Given the description of an element on the screen output the (x, y) to click on. 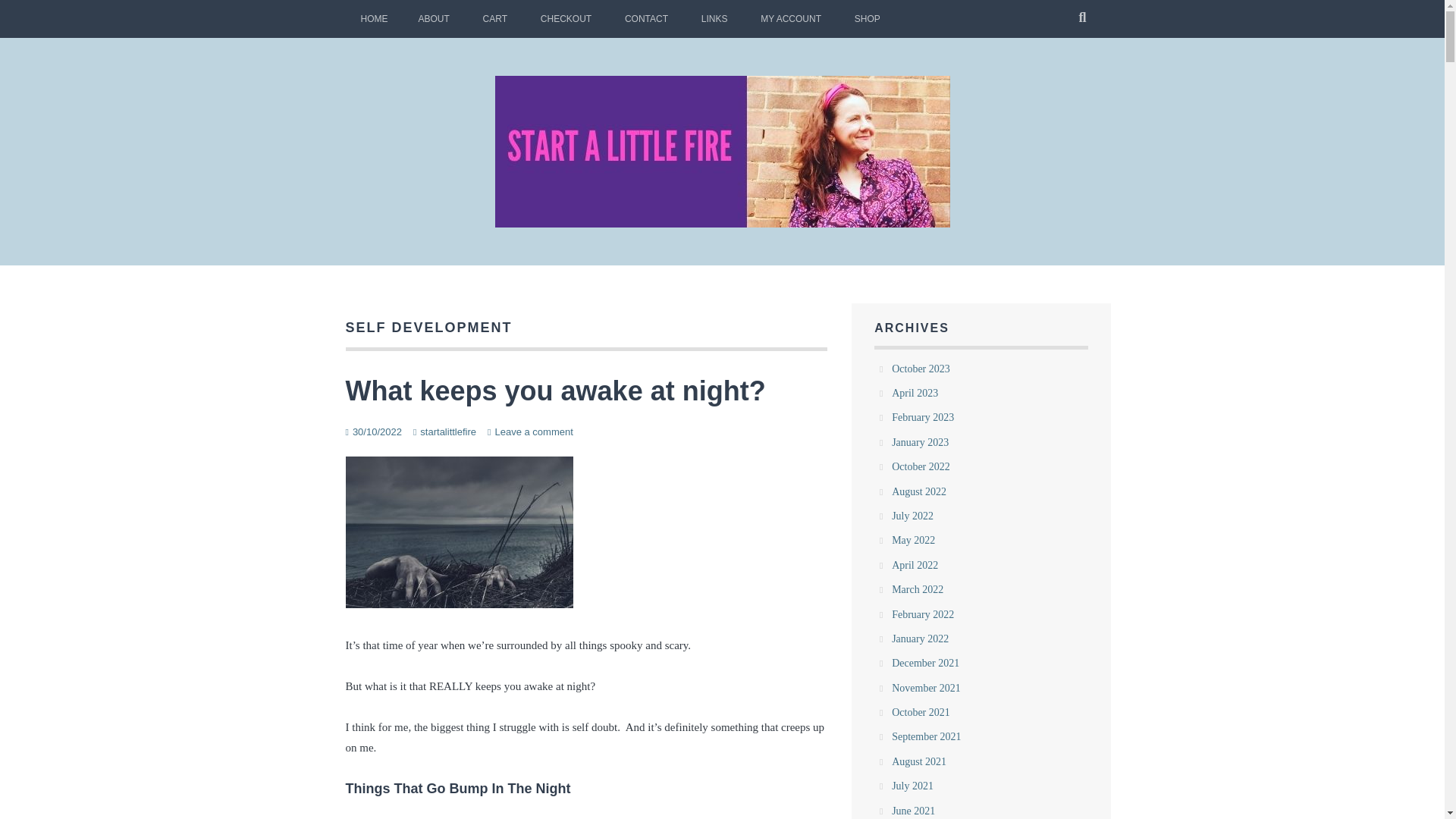
SHOP (867, 18)
HOME (374, 18)
START A LITTLE FIRE (623, 264)
LINKS (713, 18)
Leave a comment (533, 431)
ABOUT (433, 18)
CART (494, 18)
What keeps you awake at night? (555, 390)
MY ACCOUNT (790, 18)
CONTACT (646, 18)
CHECKOUT (566, 18)
startalittlefire (448, 431)
